Given the description of an element on the screen output the (x, y) to click on. 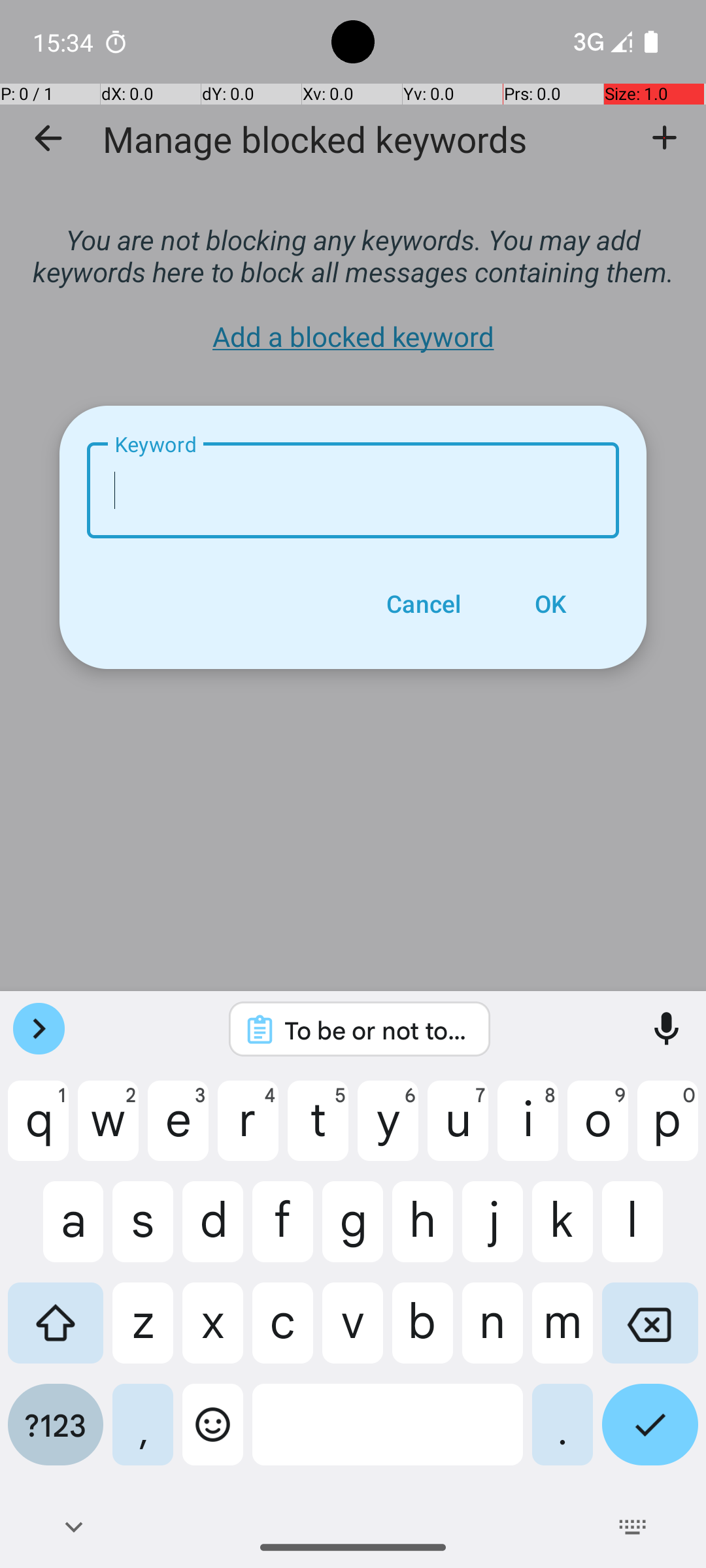
Keyword Element type: android.widget.EditText (352, 490)
